Given the description of an element on the screen output the (x, y) to click on. 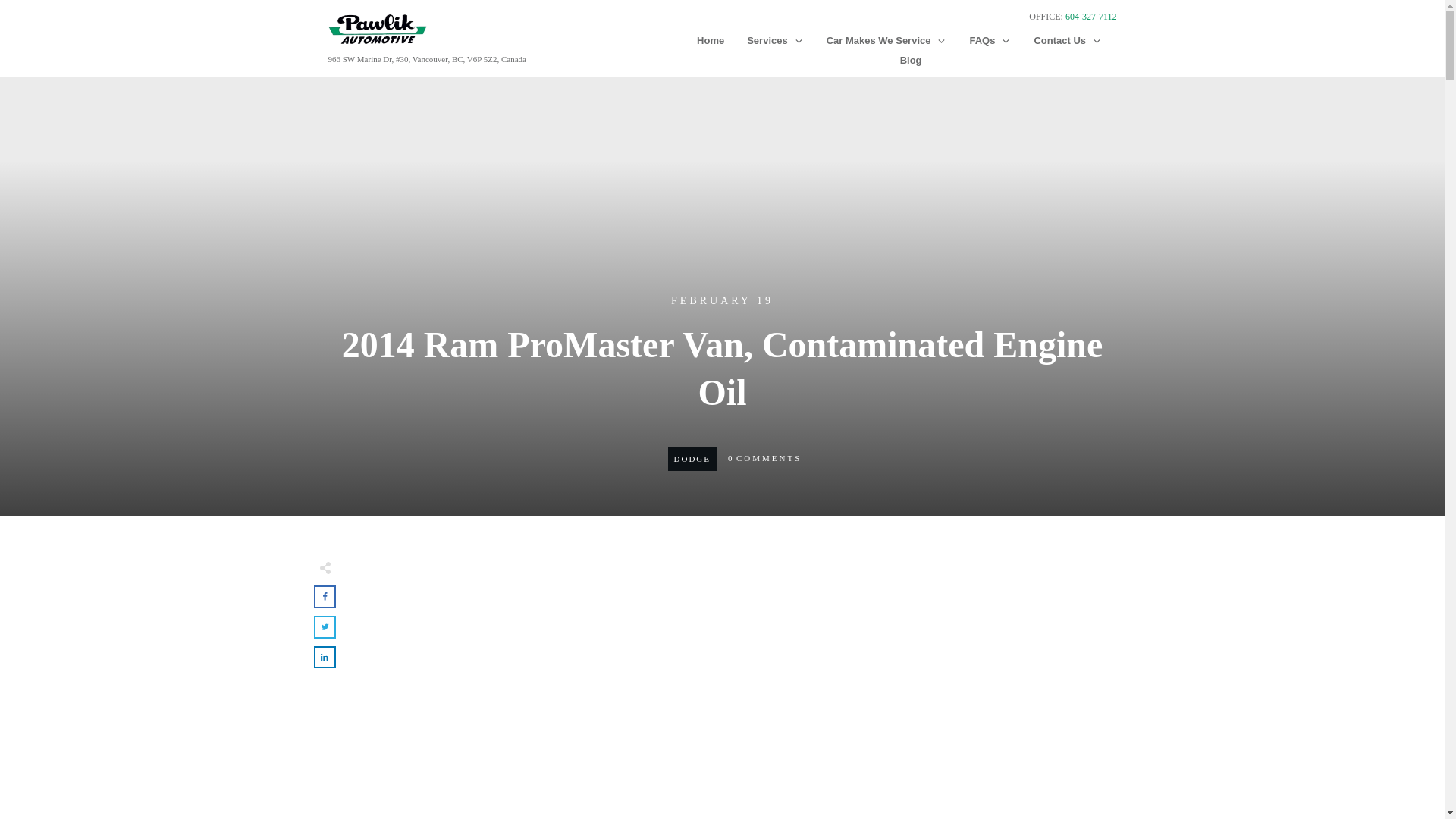
Car Makes We Service (887, 40)
Services (774, 40)
Blog (910, 60)
FAQs (989, 40)
Contact Us (1067, 40)
Home (710, 40)
